Given the description of an element on the screen output the (x, y) to click on. 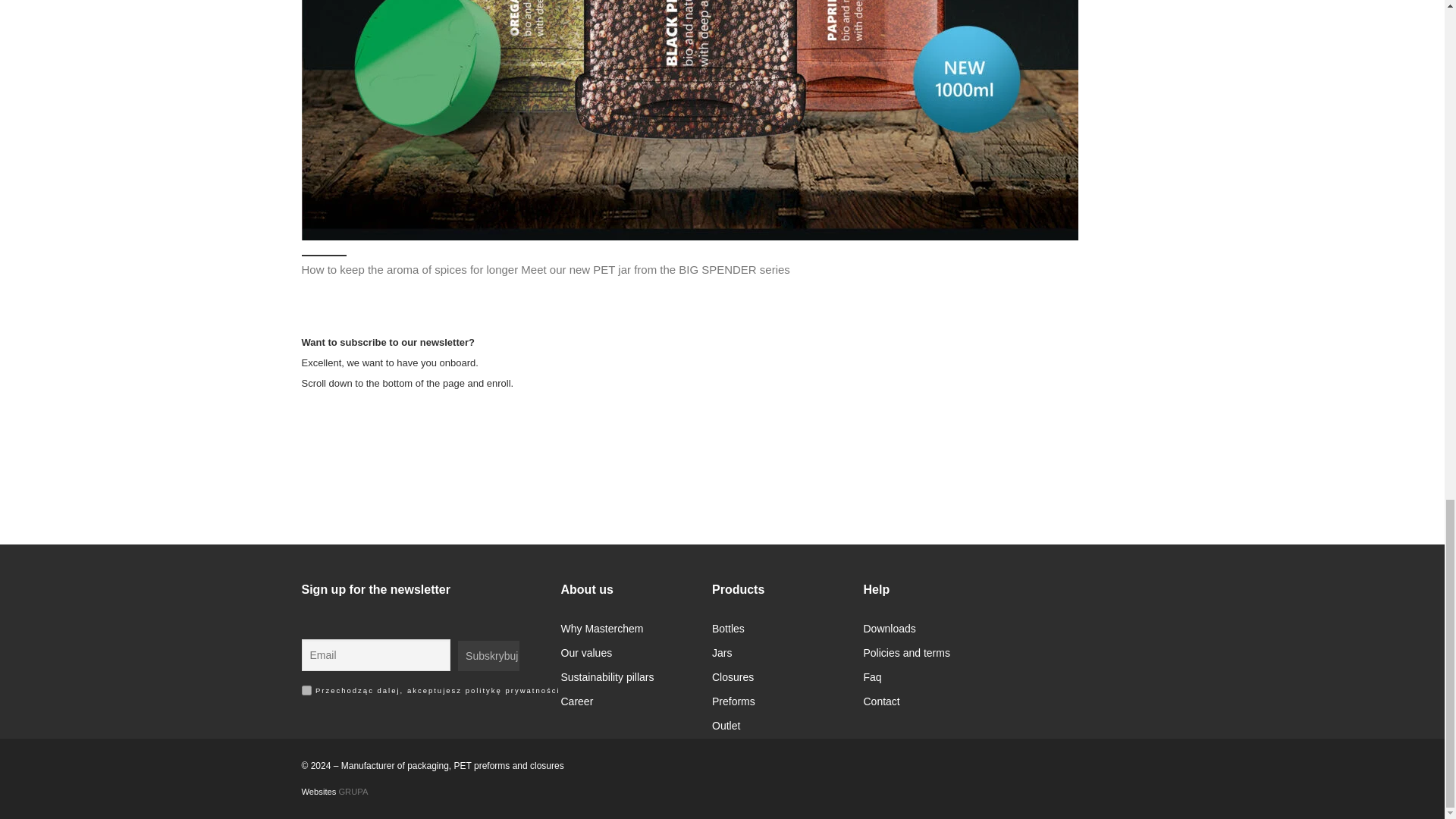
GRUPA (352, 791)
on (306, 690)
logoplaste masterchem (1078, 667)
Subskrybuj (488, 655)
